Given the description of an element on the screen output the (x, y) to click on. 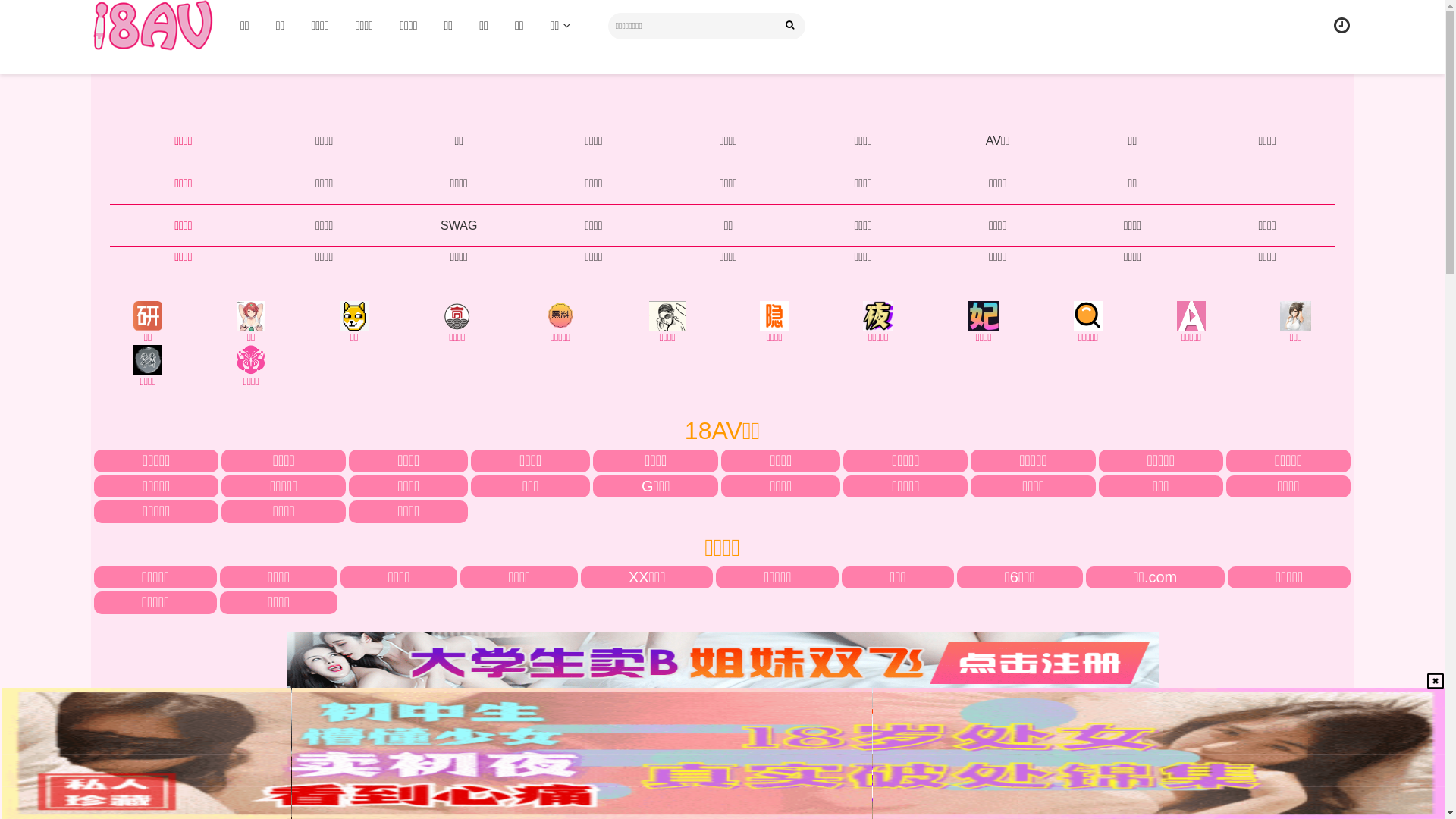
SWAG Element type: text (458, 225)
